Given the description of an element on the screen output the (x, y) to click on. 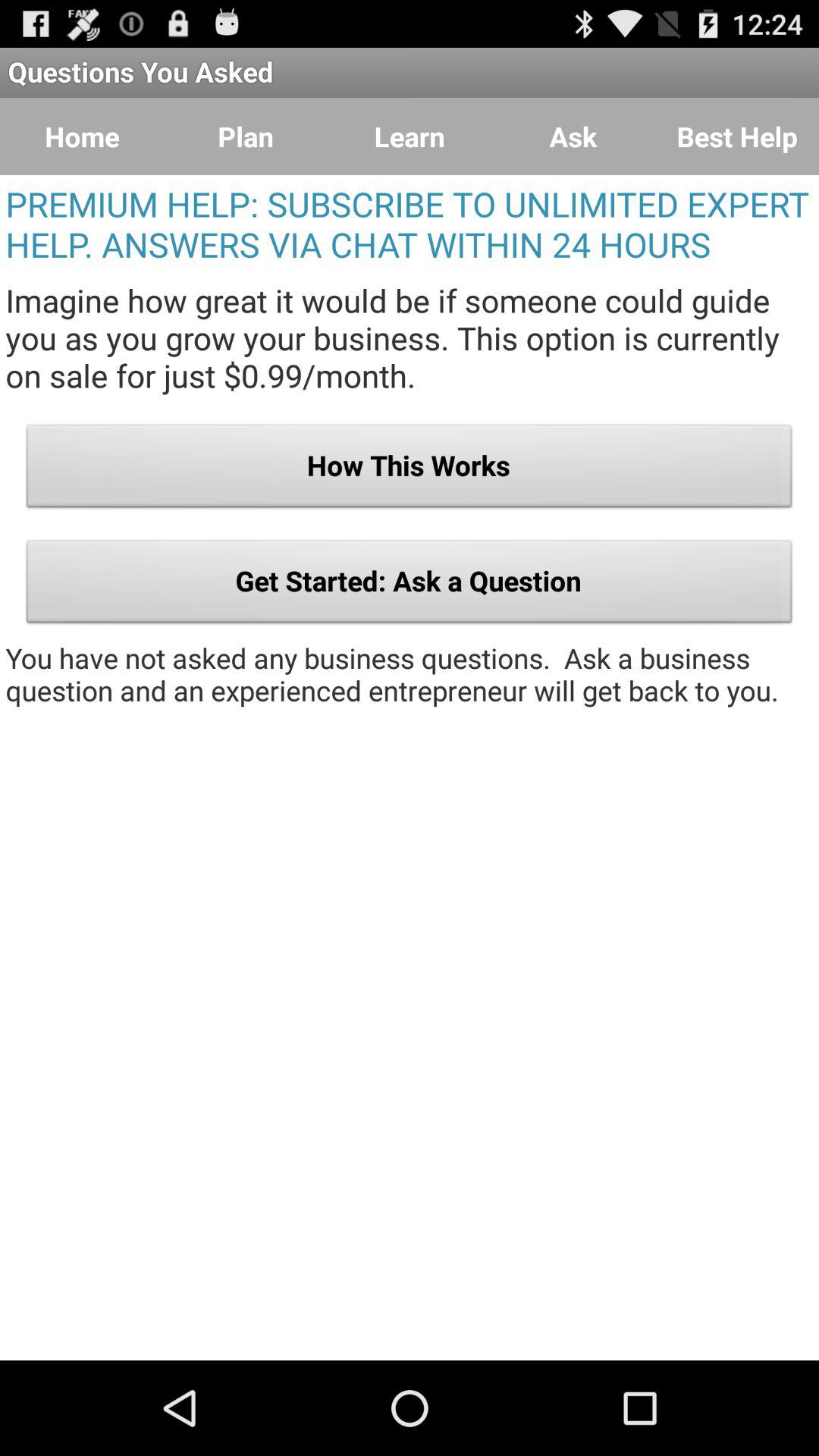
turn off the app below questions you asked icon (409, 136)
